Given the description of an element on the screen output the (x, y) to click on. 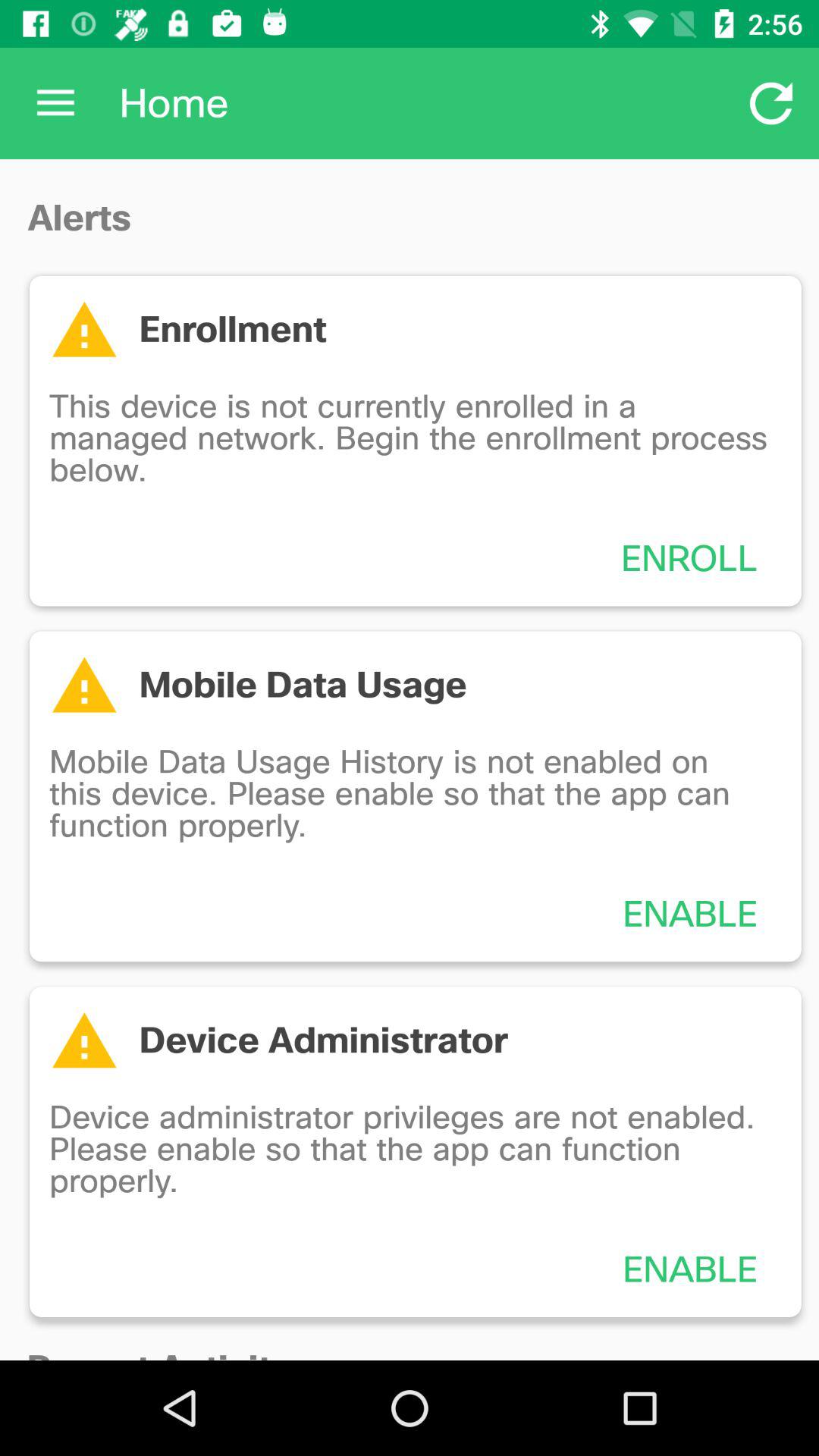
launch app next to the home icon (771, 103)
